Given the description of an element on the screen output the (x, y) to click on. 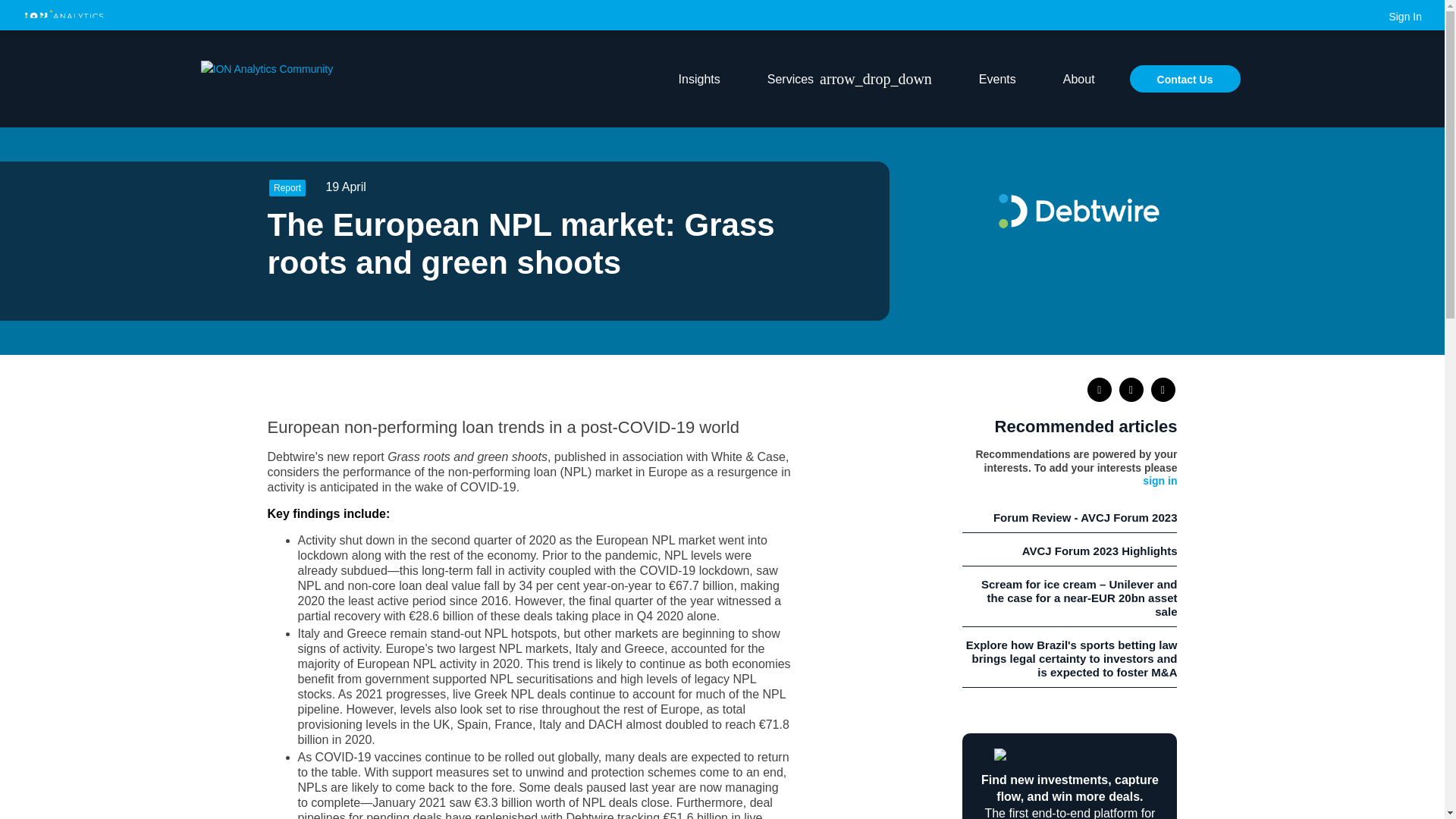
sign in (1159, 480)
Insights (699, 78)
Report (287, 187)
AVCJ Forum 2023 Highlights (1069, 549)
Contact Us (1184, 78)
Events (996, 78)
Sign In (1405, 15)
About (1078, 78)
Forum Review - AVCJ Forum 2023 (1069, 516)
